Given the description of an element on the screen output the (x, y) to click on. 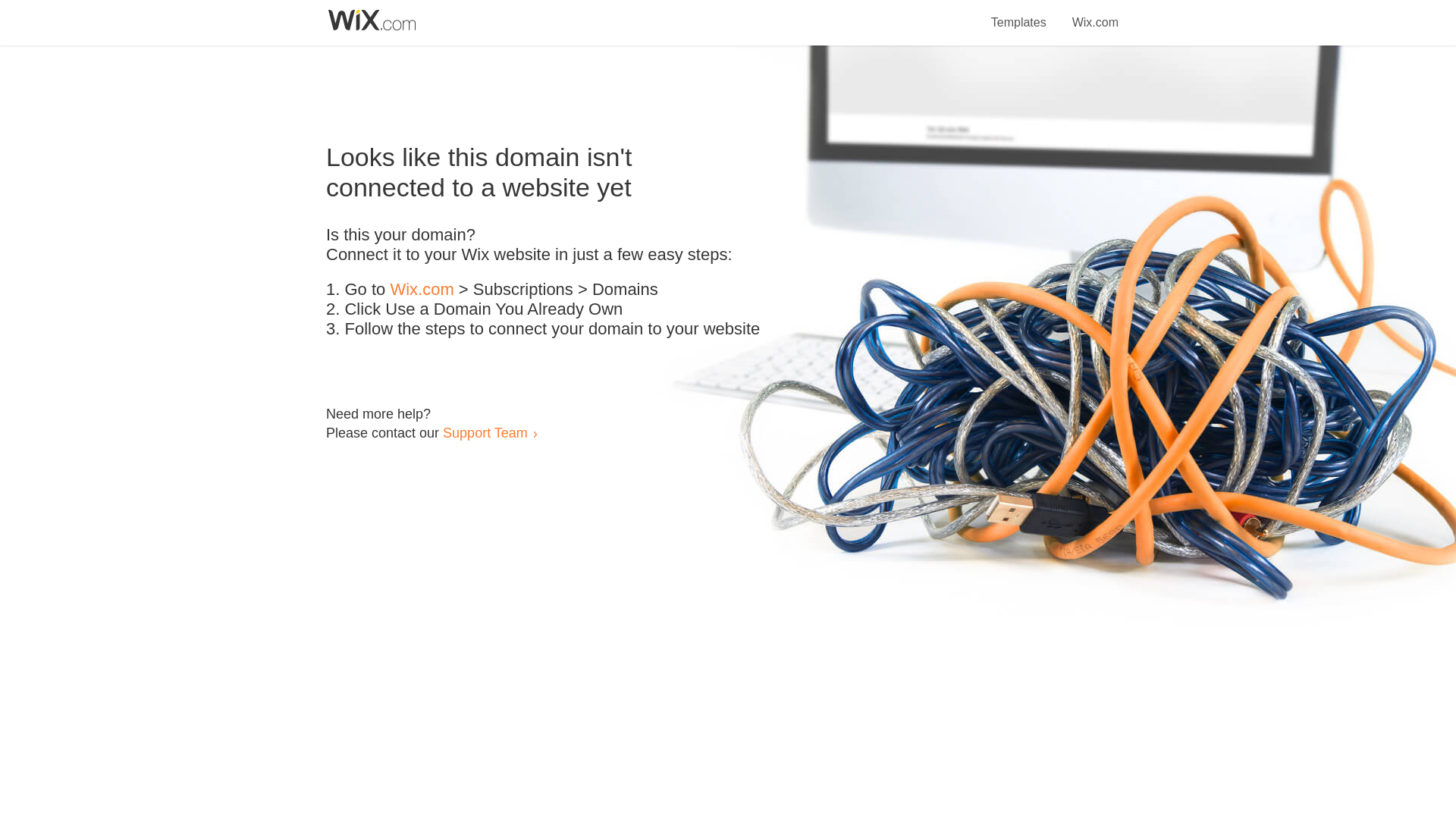
Templates (1018, 14)
Wix.com (421, 289)
Wix.com (1095, 14)
Support Team (484, 432)
